Given the description of an element on the screen output the (x, y) to click on. 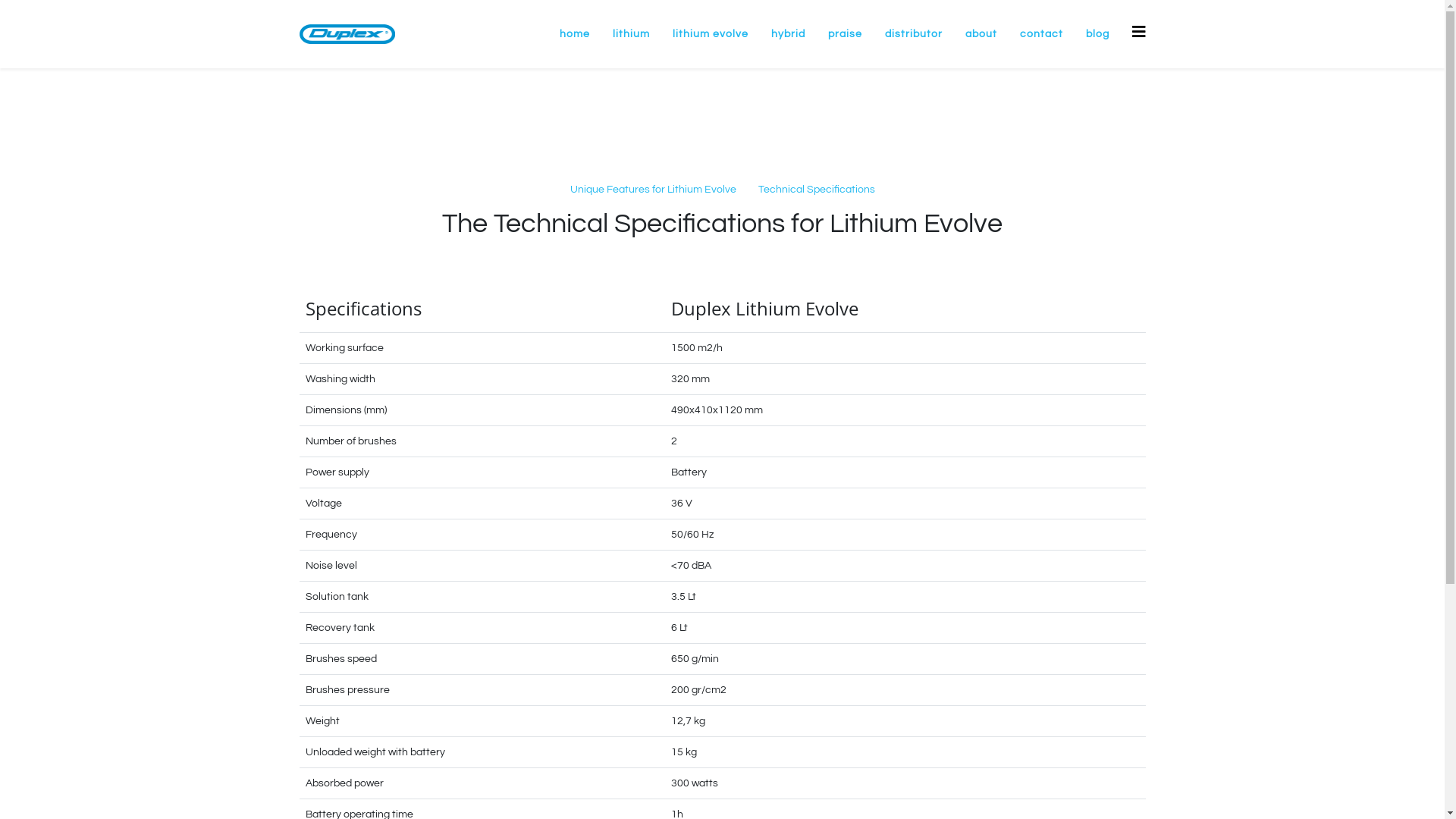
lithium Element type: text (630, 34)
Unique Features for Lithium Evolve Element type: text (653, 189)
lithium evolve Element type: text (710, 34)
home Element type: text (573, 34)
praise Element type: text (843, 34)
Technical Specifications Element type: text (816, 189)
about Element type: text (980, 34)
distributor Element type: text (913, 34)
blog Element type: text (1096, 34)
Helix3 Megamenu Options Element type: hover (1138, 31)
contact Element type: text (1041, 34)
hybrid Element type: text (787, 34)
